Given the description of an element on the screen output the (x, y) to click on. 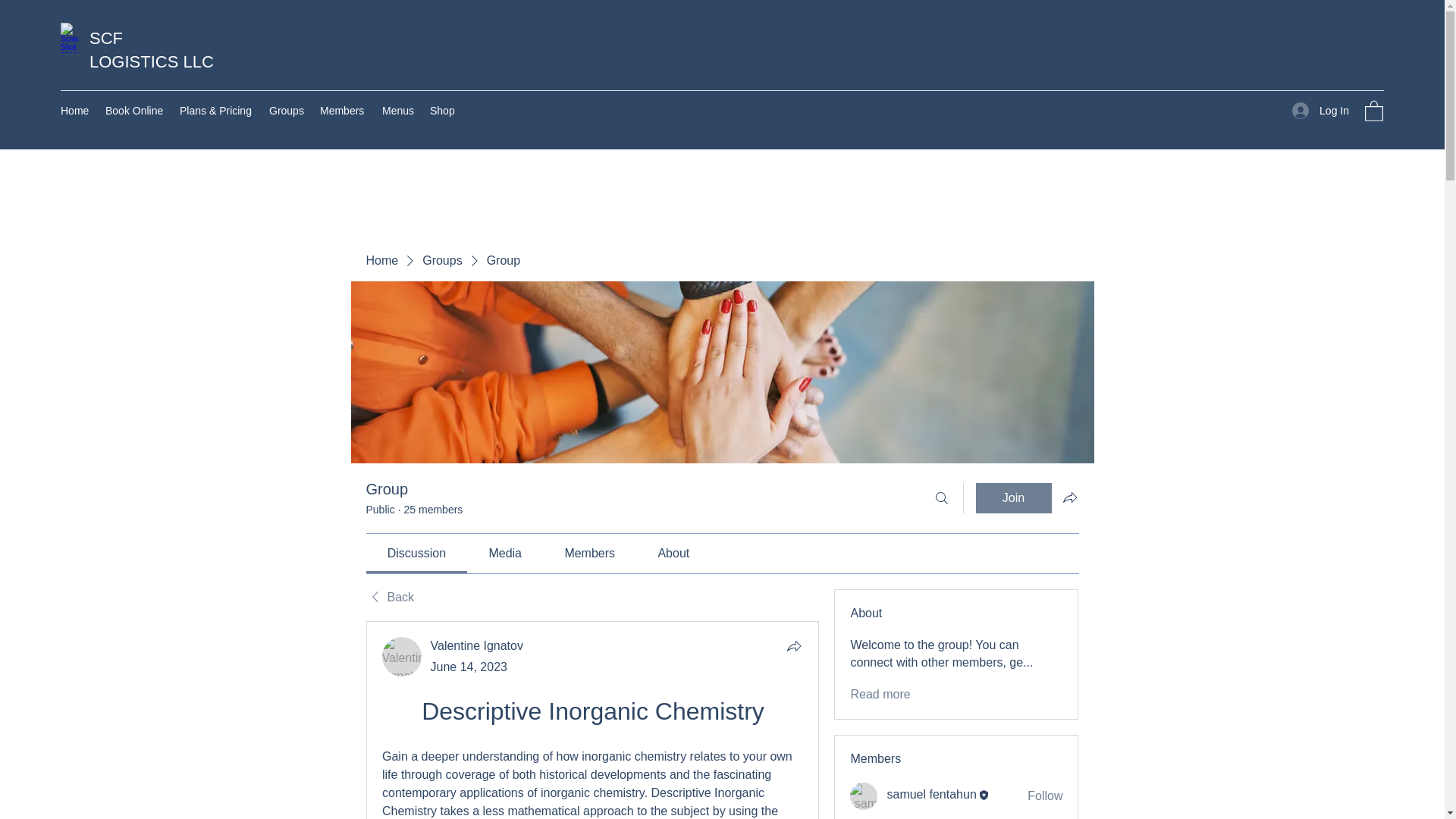
Follow (1044, 795)
SCF LOGISTICS LLC (151, 49)
Log In (1320, 111)
samuel fentahun (863, 795)
Groups (441, 260)
Shop (442, 110)
June 14, 2023 (468, 666)
samuel fentahun (930, 794)
Members (343, 110)
Back (389, 597)
